Given the description of an element on the screen output the (x, y) to click on. 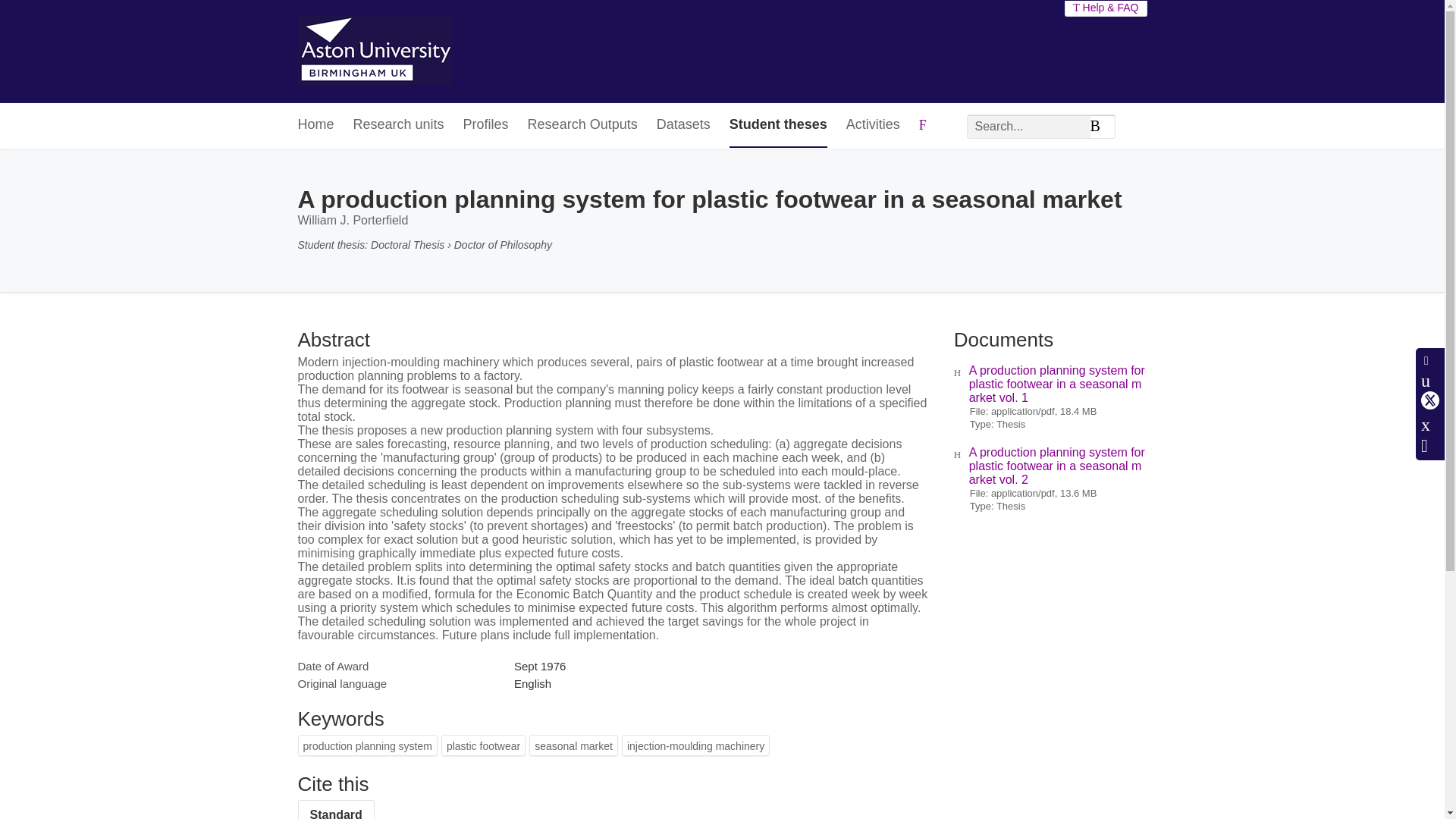
Research Outputs (582, 125)
Activities (872, 125)
Student theses (778, 125)
Aston Research Explorer Home (374, 51)
Profiles (485, 125)
Datasets (683, 125)
Research units (398, 125)
